Given the description of an element on the screen output the (x, y) to click on. 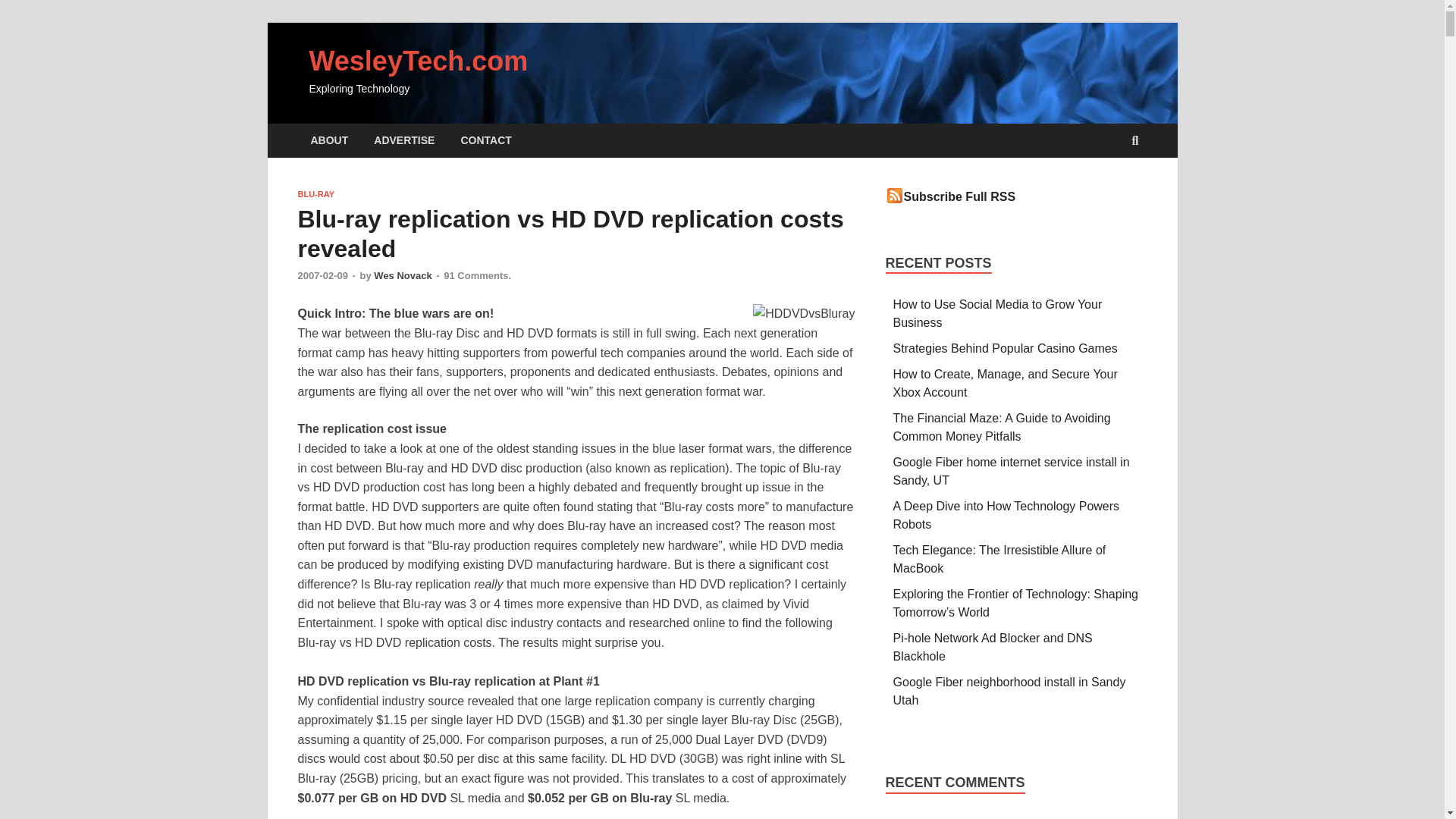
CONTACT (485, 140)
Subscribe to my feed (960, 196)
91 Comments. (477, 275)
WesleyTech.com (418, 60)
2007-02-09 (322, 275)
Wes Novack (402, 275)
BLU-RAY (315, 194)
ADVERTISE (403, 140)
ABOUT (329, 140)
